Given the description of an element on the screen output the (x, y) to click on. 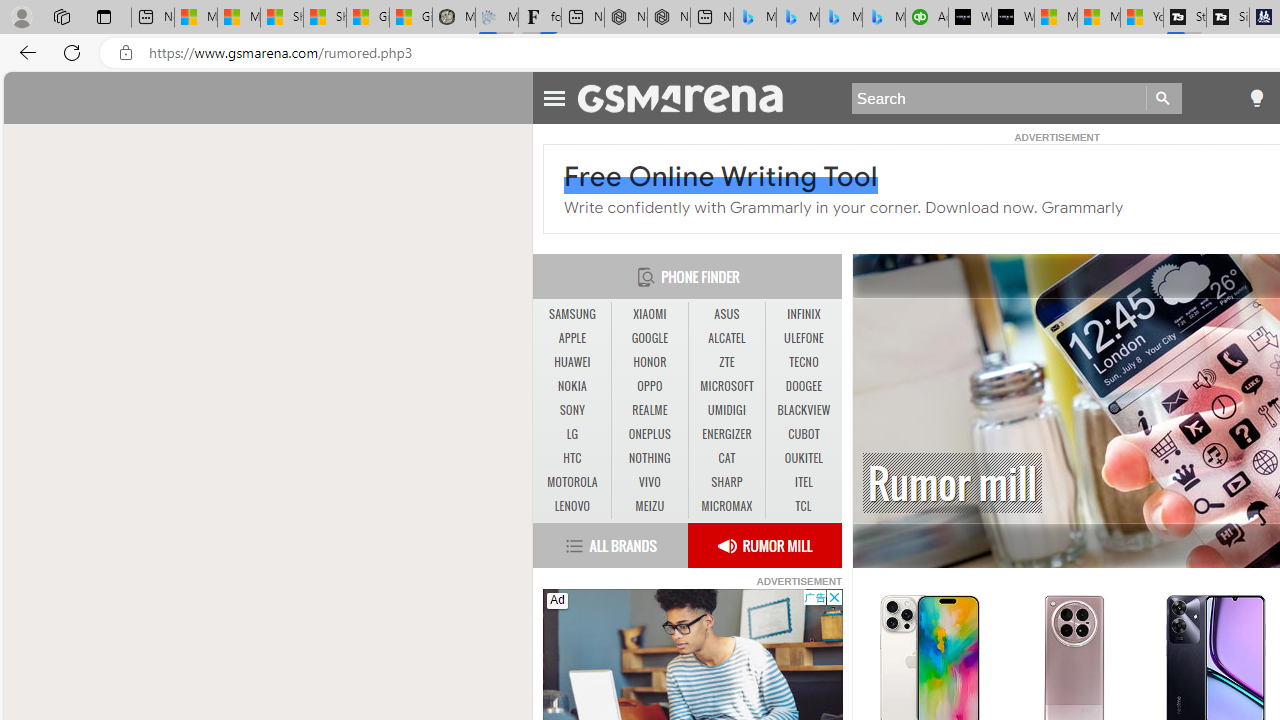
NOTHING (649, 457)
BLACKVIEW (803, 411)
MOTOROLA (571, 483)
HTC (571, 458)
INFINIX (803, 313)
HTC (571, 457)
UMIDIGI (726, 410)
Go (1163, 97)
TCL (802, 506)
VIVO (649, 483)
ZTE (726, 362)
CAT (726, 457)
LENOVO (571, 506)
OPPO (649, 385)
